Given the description of an element on the screen output the (x, y) to click on. 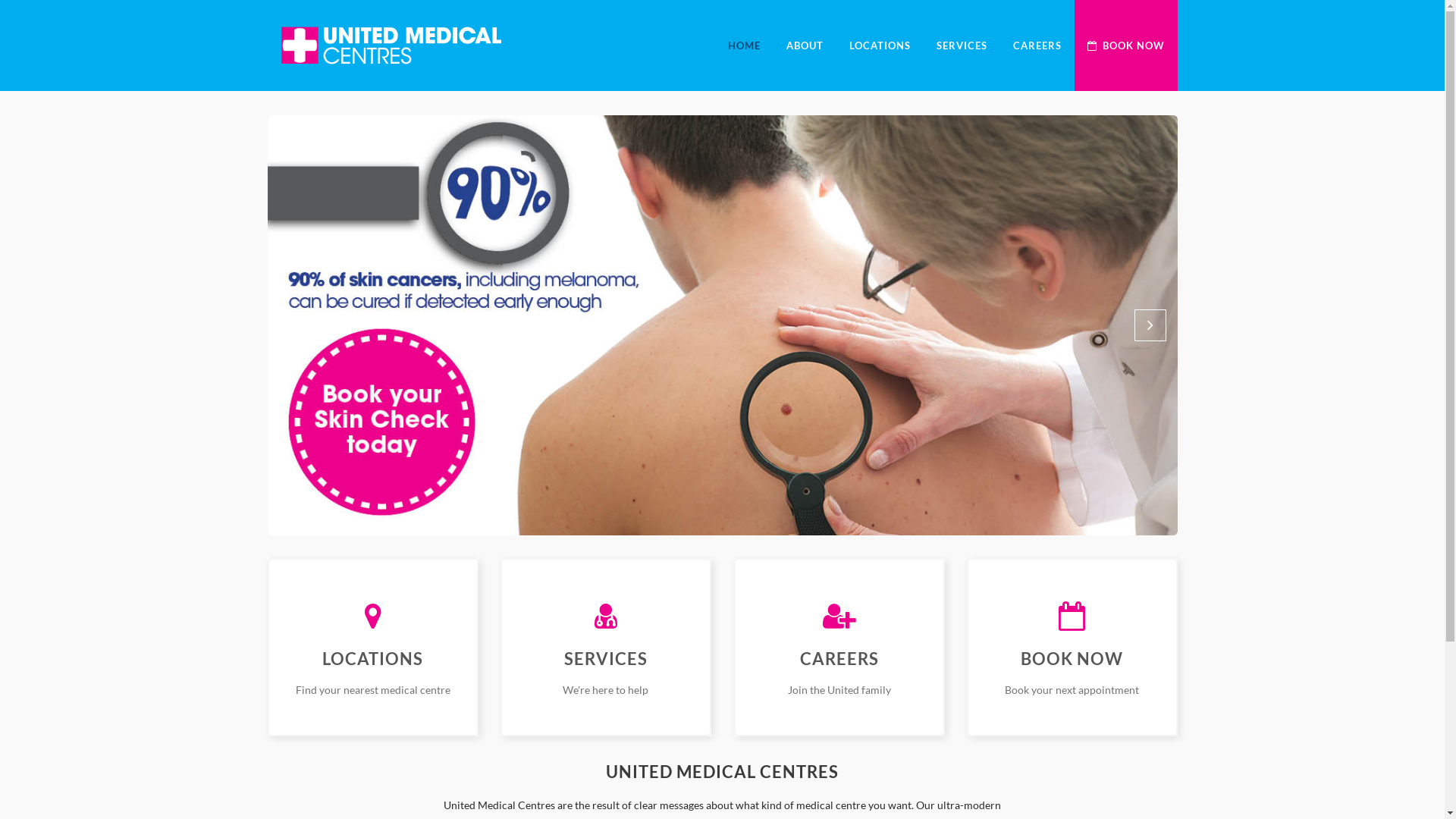
HOME Element type: text (743, 45)
SERVICES Element type: text (961, 45)
LOCATIONS
Find your nearest medical centre Element type: text (371, 647)
LOCATIONS Element type: text (878, 45)
BOOK NOW Element type: text (1124, 45)
CAREERS
Join the United family Element type: text (839, 647)
SERVICES
We're here to help Element type: text (605, 647)
ABOUT Element type: text (804, 45)
BOOK NOW
Book your next appointment Element type: text (1071, 647)
CAREERS Element type: text (1036, 45)
